Given the description of an element on the screen output the (x, y) to click on. 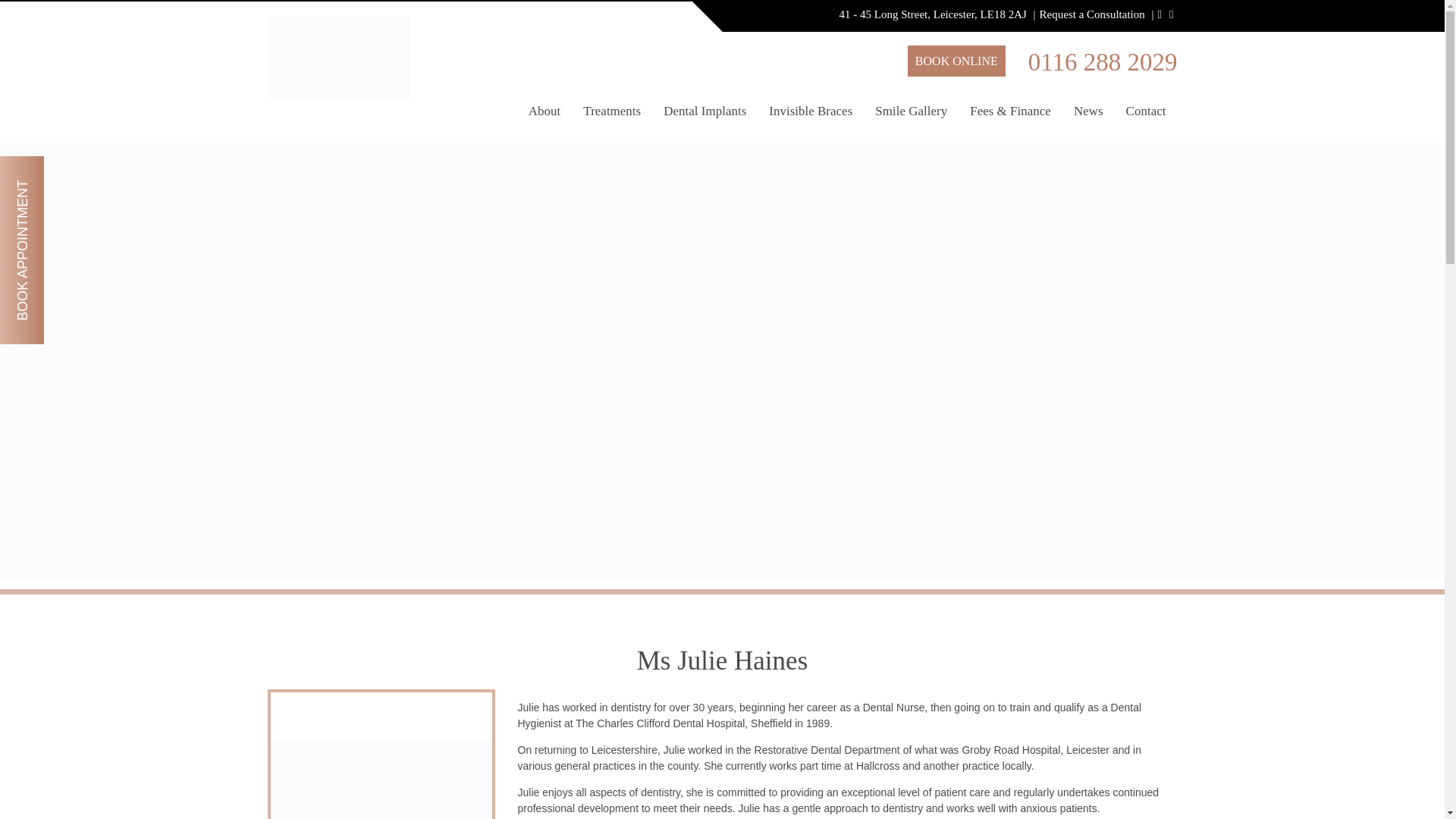
Treatments (612, 117)
Smile Gallery (910, 117)
Dental Implants (704, 117)
Invisible Braces (810, 117)
About (544, 117)
BOOK ONLINE (956, 60)
Request a Consultation (1091, 14)
0116 288 2029 (1102, 62)
